Given the description of an element on the screen output the (x, y) to click on. 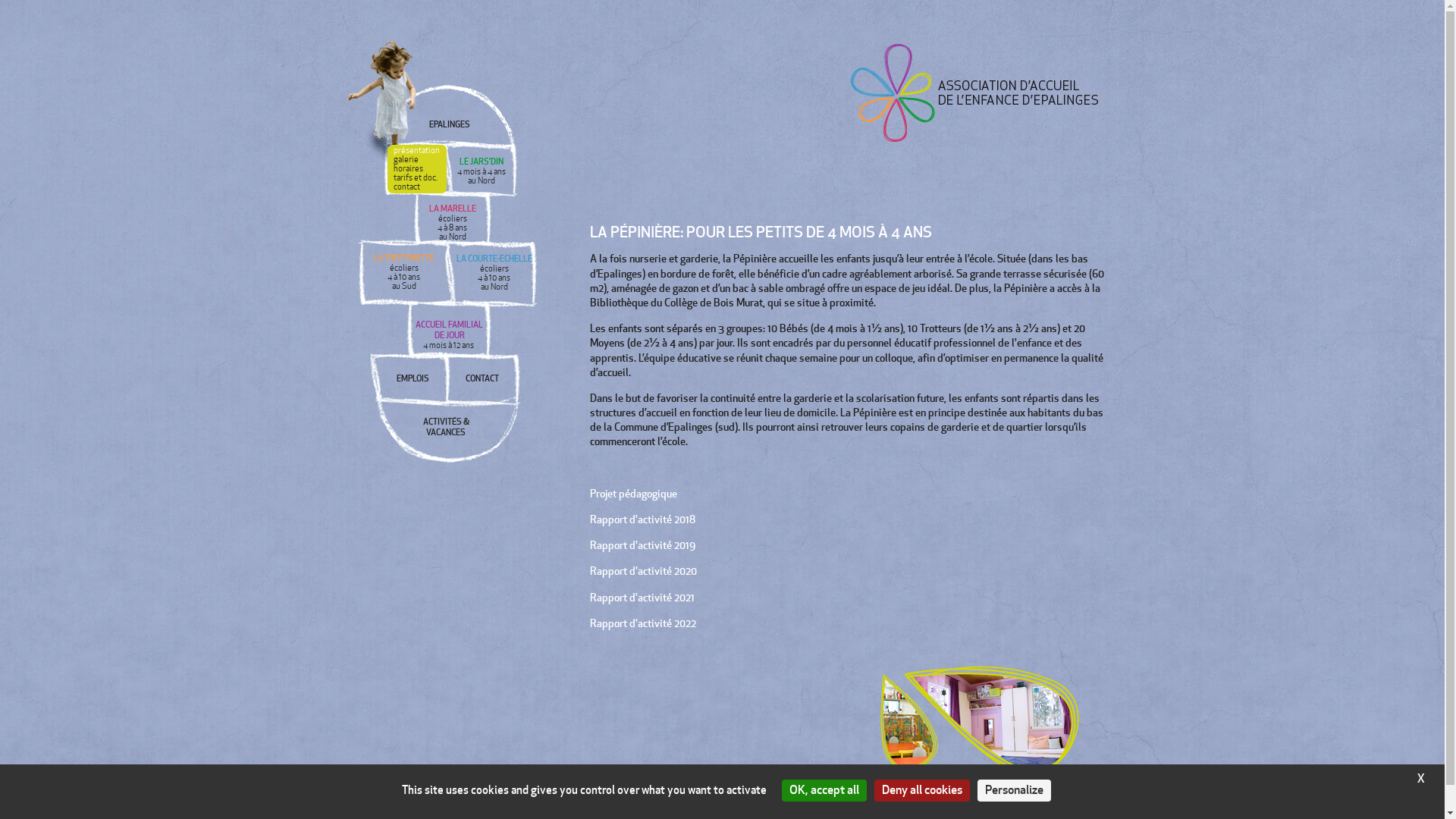
Personalize Element type: text (1013, 790)
Deny all cookies Element type: text (921, 790)
Aller au contenu principal Element type: text (0, 0)
contact Element type: text (418, 186)
CONTACT Element type: text (481, 378)
EMPLOIS Element type: text (412, 378)
tarifs et doc. Element type: text (418, 177)
horaires Element type: text (418, 168)
galerie Element type: text (418, 159)
Association d'Accueil de l'Enfance d'Epalinges Element type: hover (977, 92)
EPALINGES Element type: text (449, 124)
OK, accept all Element type: text (823, 790)
